Given the description of an element on the screen output the (x, y) to click on. 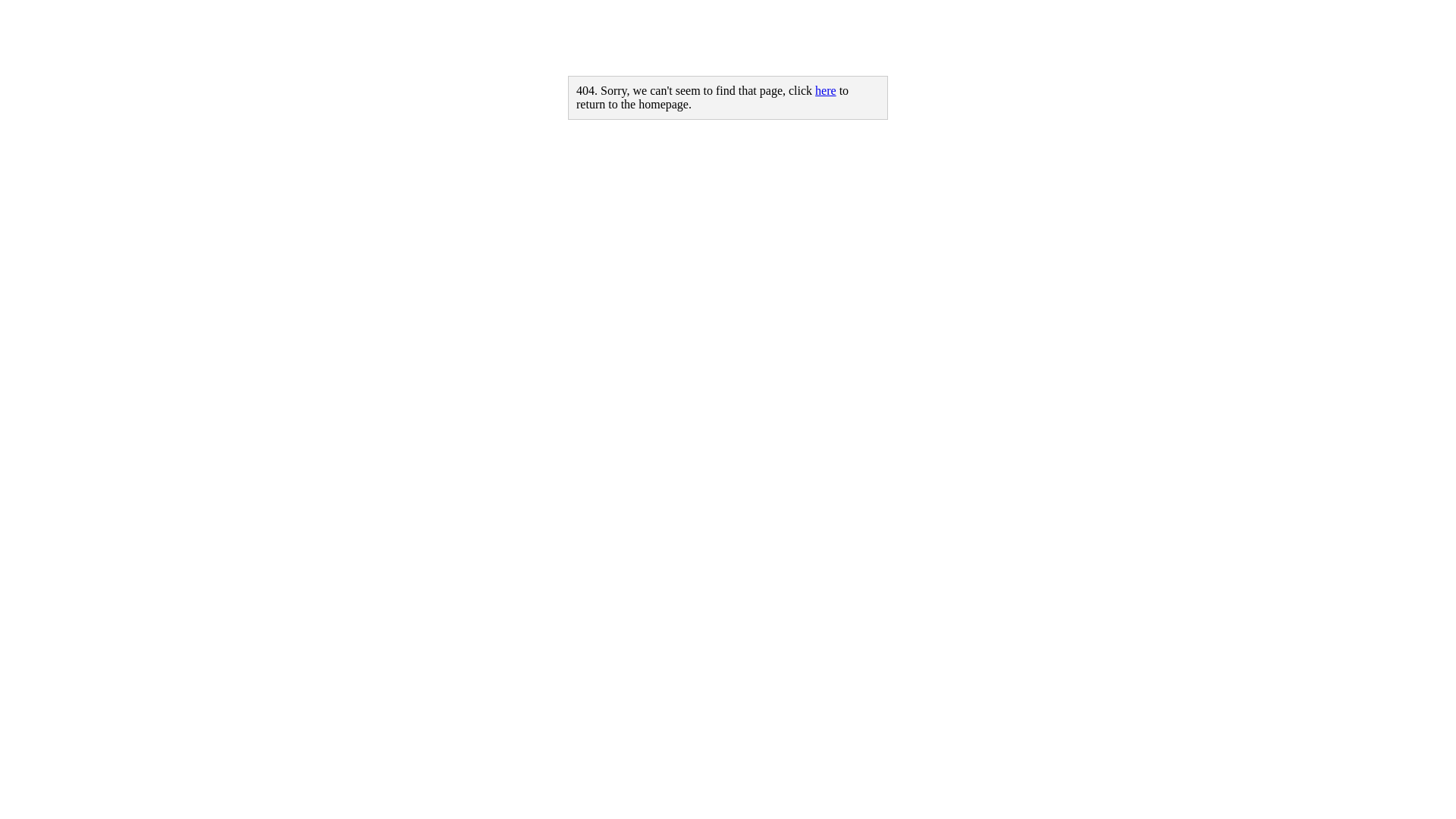
here Element type: text (825, 90)
